Given the description of an element on the screen output the (x, y) to click on. 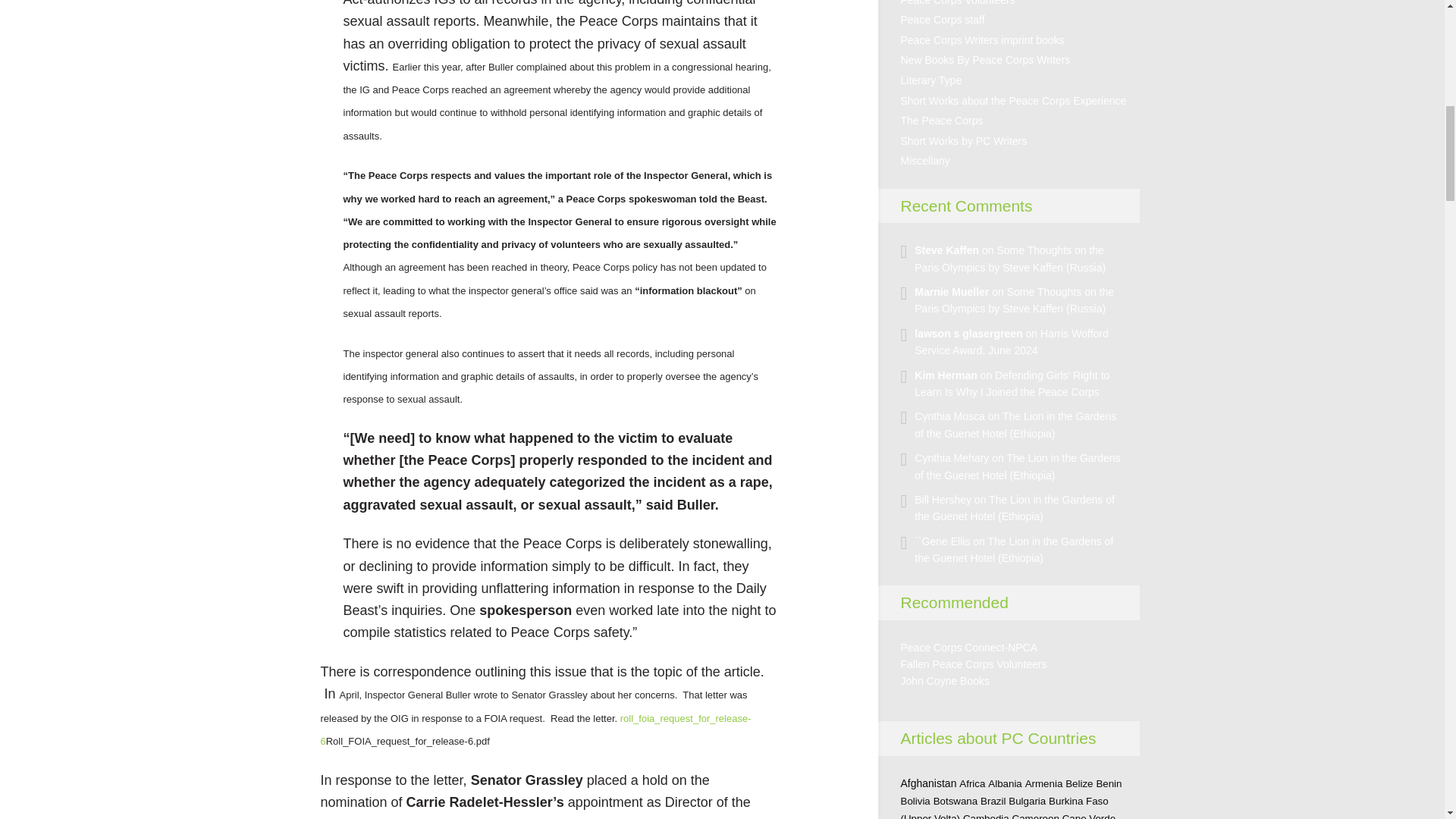
11 topics (1079, 783)
6 topics (1027, 800)
8 topics (1043, 783)
12 topics (955, 800)
7 topics (972, 783)
3 topics (1108, 783)
9 topics (992, 800)
21 topics (928, 783)
12 topics (915, 800)
3 topics (1005, 783)
